Given the description of an element on the screen output the (x, y) to click on. 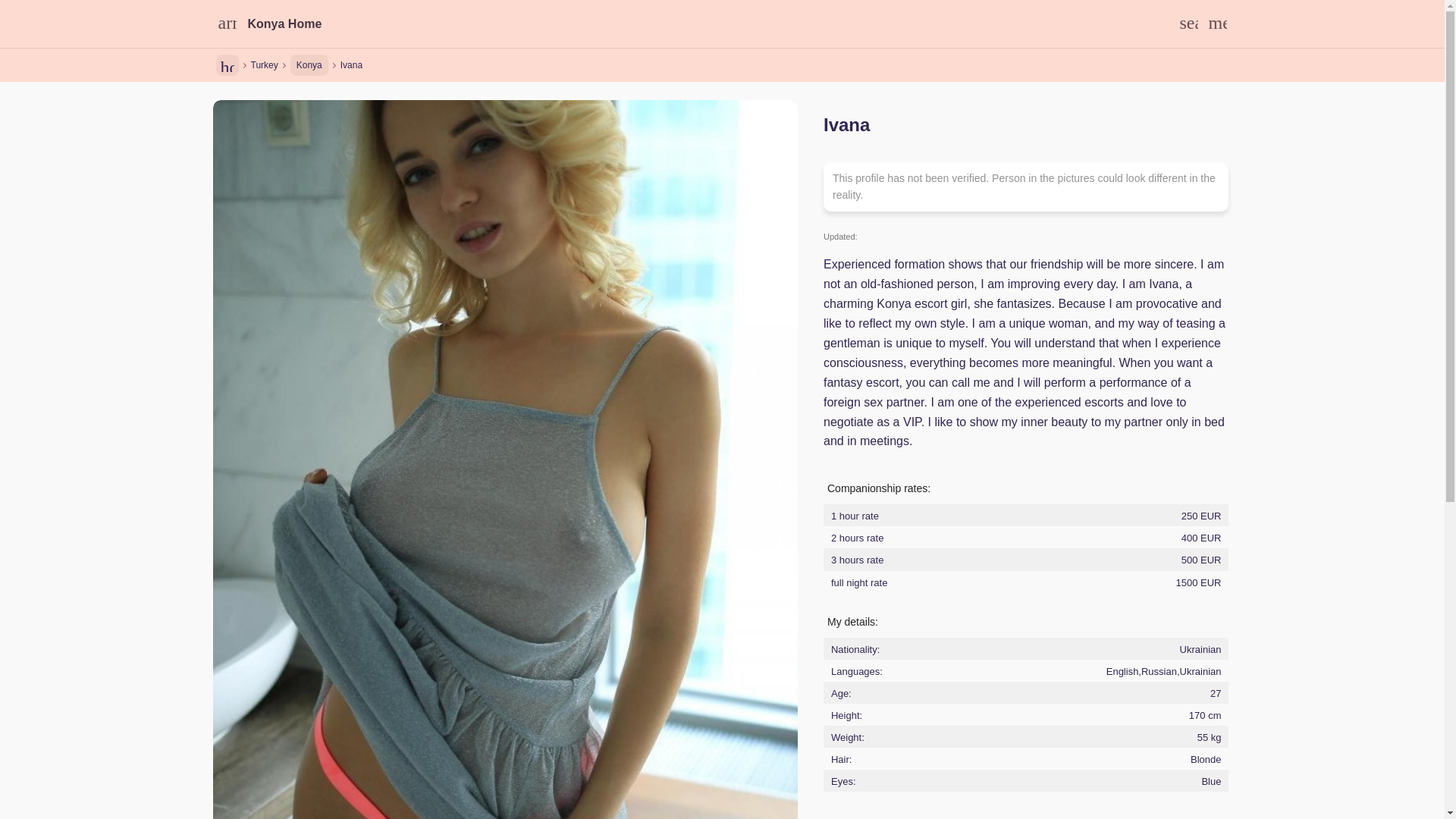
home (226, 65)
search (1187, 23)
Konya (309, 65)
menu (1216, 23)
